Given the description of an element on the screen output the (x, y) to click on. 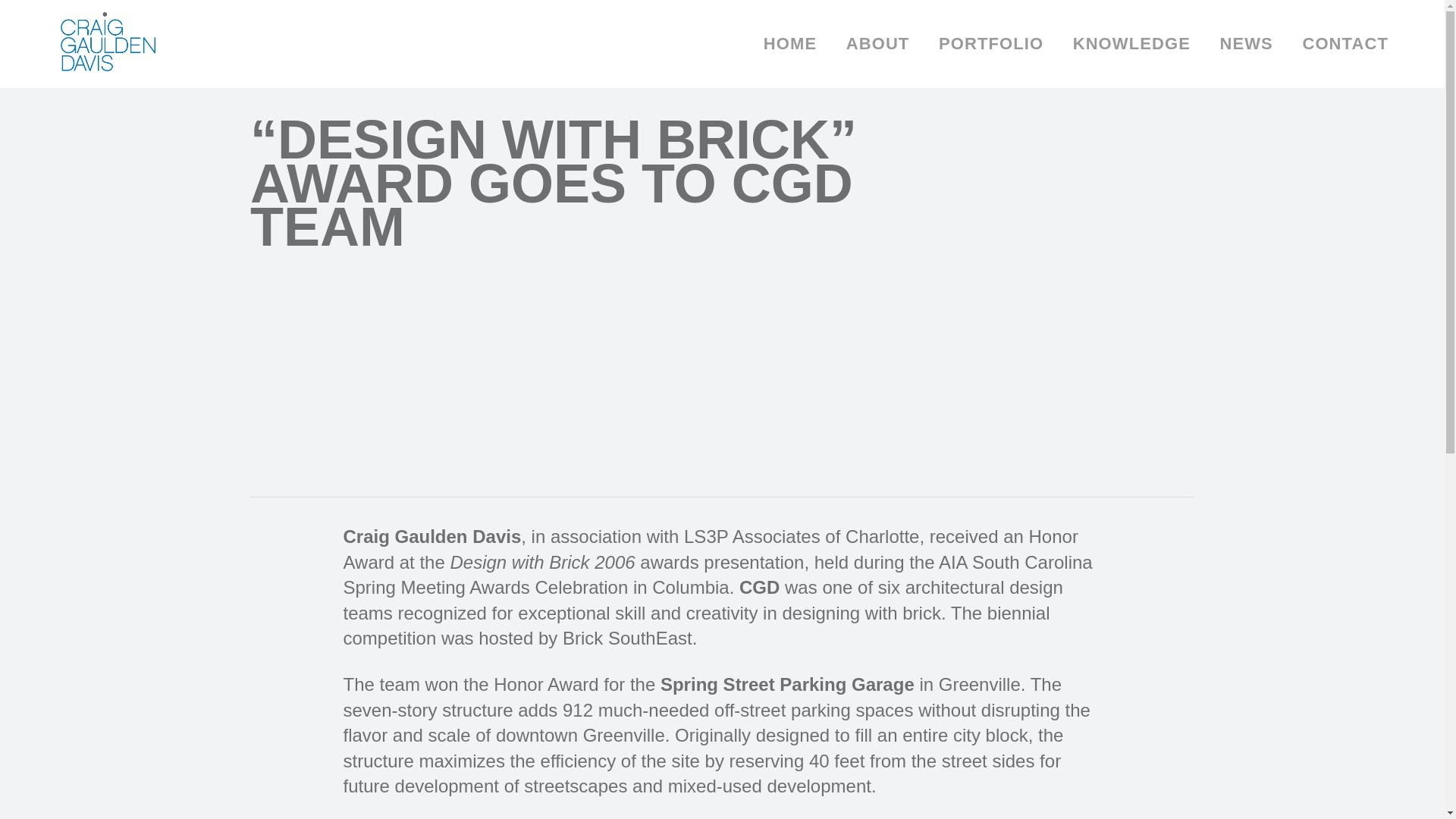
KNOWLEDGE (1132, 43)
HOME (789, 43)
PORTFOLIO (991, 43)
NEWS (1246, 43)
CONTACT (1345, 43)
ABOUT (877, 43)
